Given the description of an element on the screen output the (x, y) to click on. 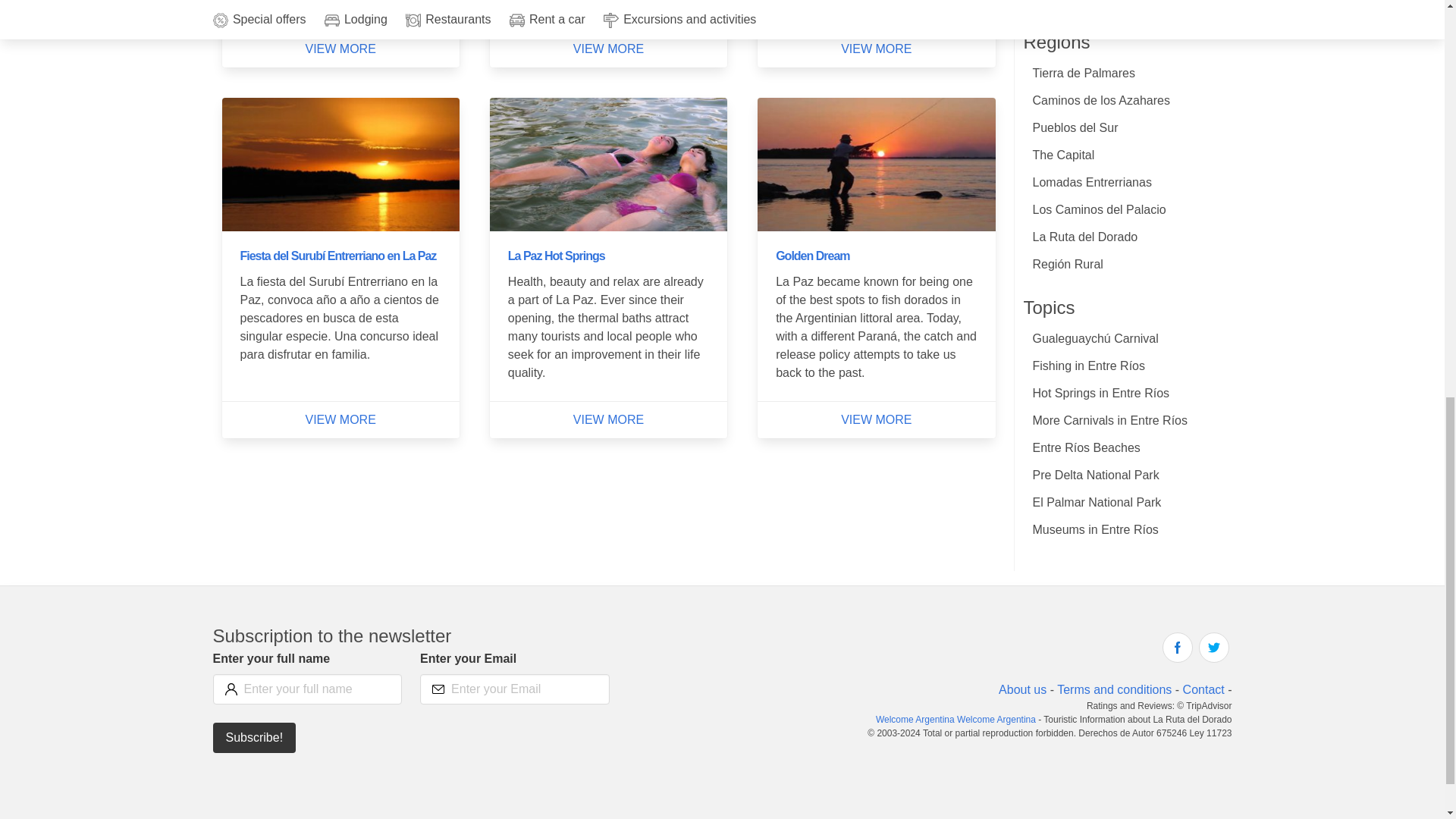
Golden Dream (812, 255)
La Paz Hot Springs (556, 255)
